Given the description of an element on the screen output the (x, y) to click on. 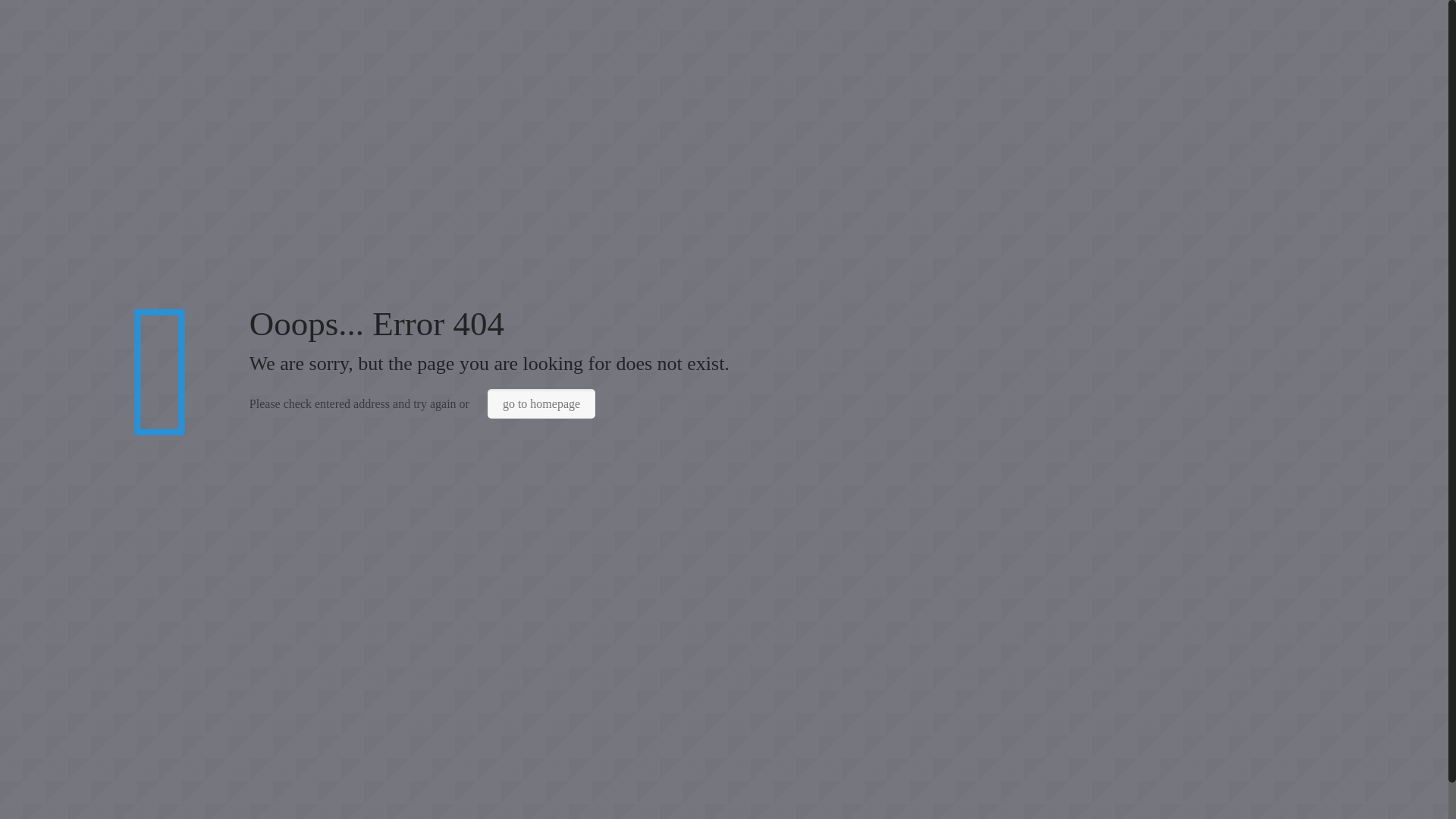
go to homepage (541, 403)
